Given the description of an element on the screen output the (x, y) to click on. 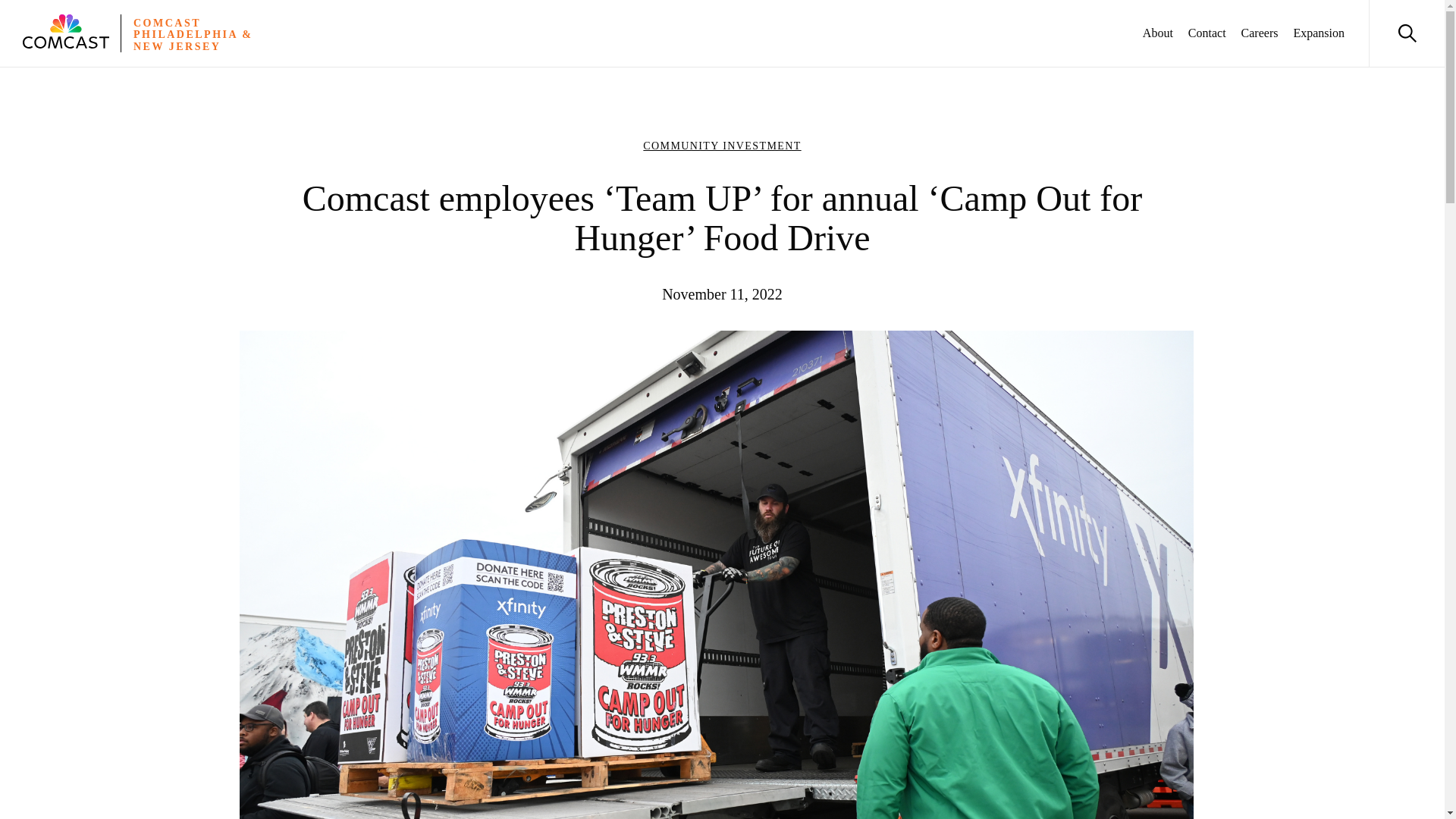
Contact (1206, 33)
Careers (1259, 33)
Expansion (1317, 33)
About (1157, 33)
COMMUNITY INVESTMENT (721, 145)
